Given the description of an element on the screen output the (x, y) to click on. 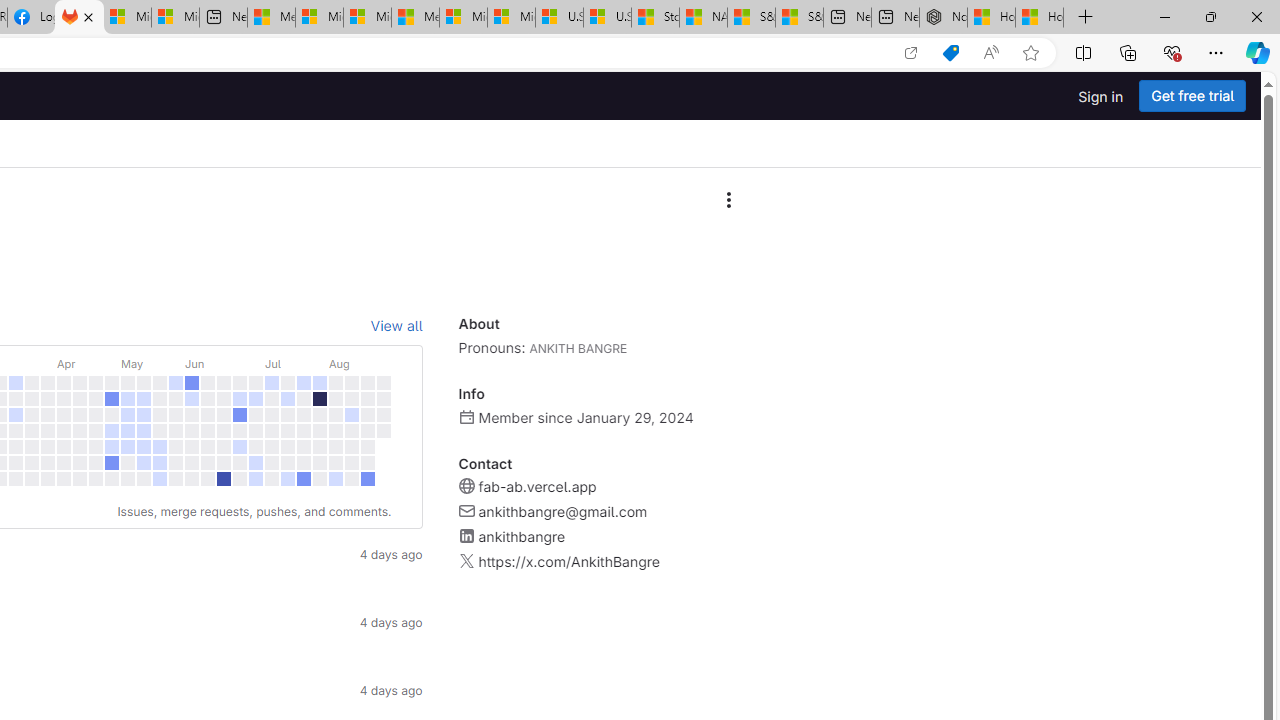
AutomationID: dropdown-toggle-btn-16 (727, 200)
Get free trial (1192, 95)
